Given the description of an element on the screen output the (x, y) to click on. 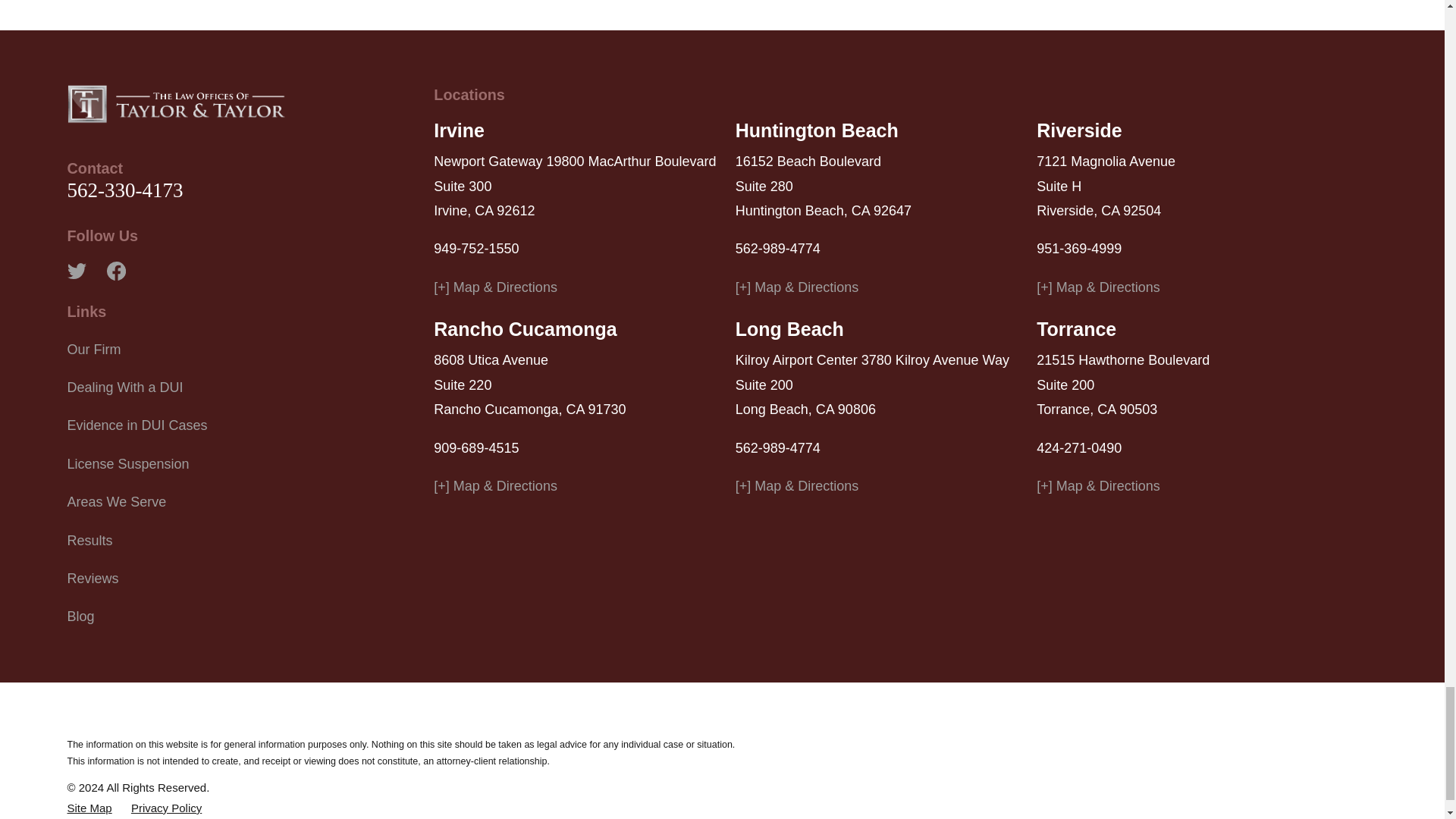
Facebook (115, 270)
Home (175, 103)
Twitter (75, 270)
